Given the description of an element on the screen output the (x, y) to click on. 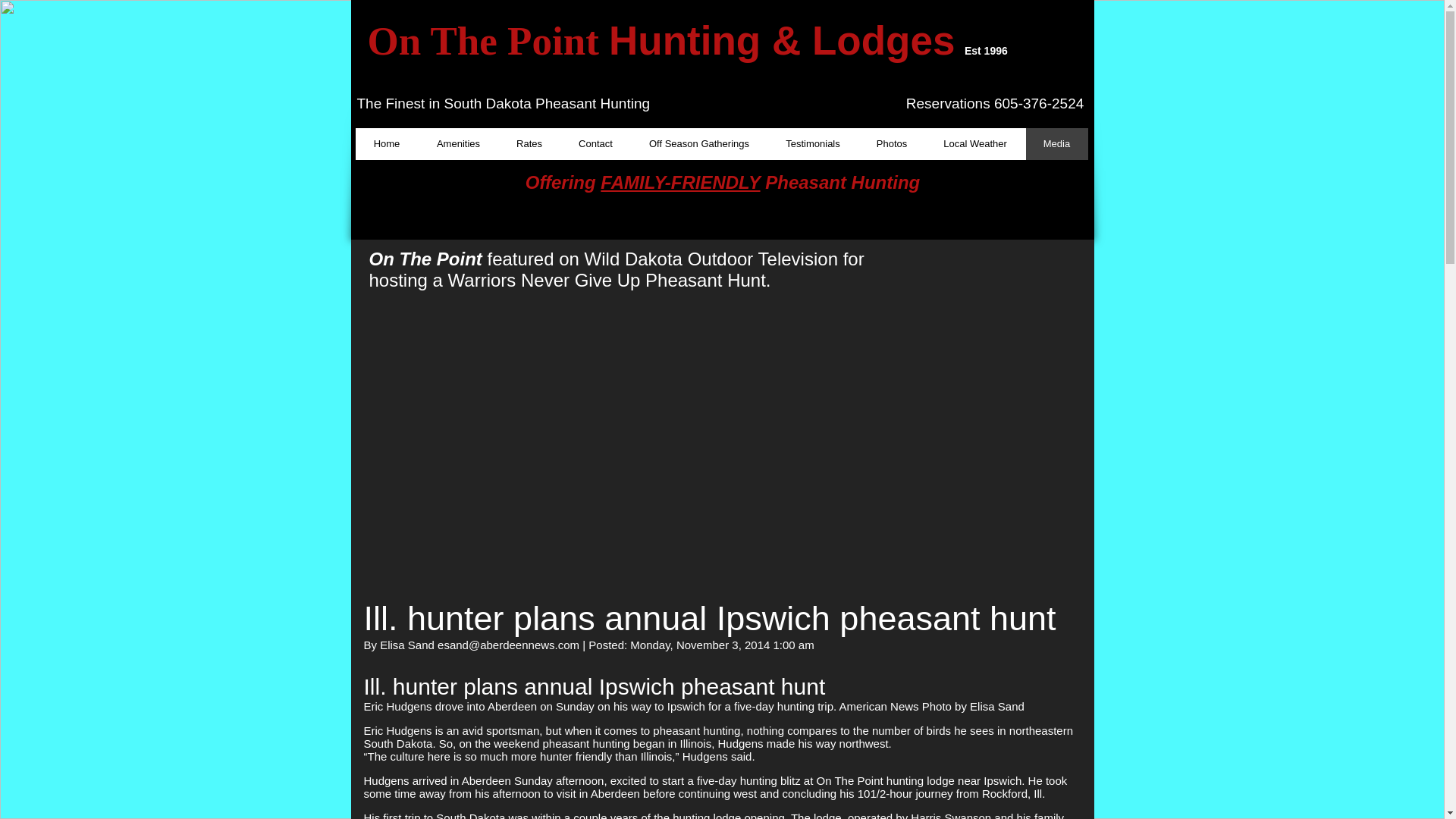
On The Point (487, 40)
Off Season Gatherings (698, 143)
Local Weather (974, 143)
Media (1056, 143)
Testimonials (813, 143)
External Vimeo (554, 435)
Amenities (458, 143)
Rates (528, 143)
Home (386, 143)
Photos (891, 143)
